Given the description of an element on the screen output the (x, y) to click on. 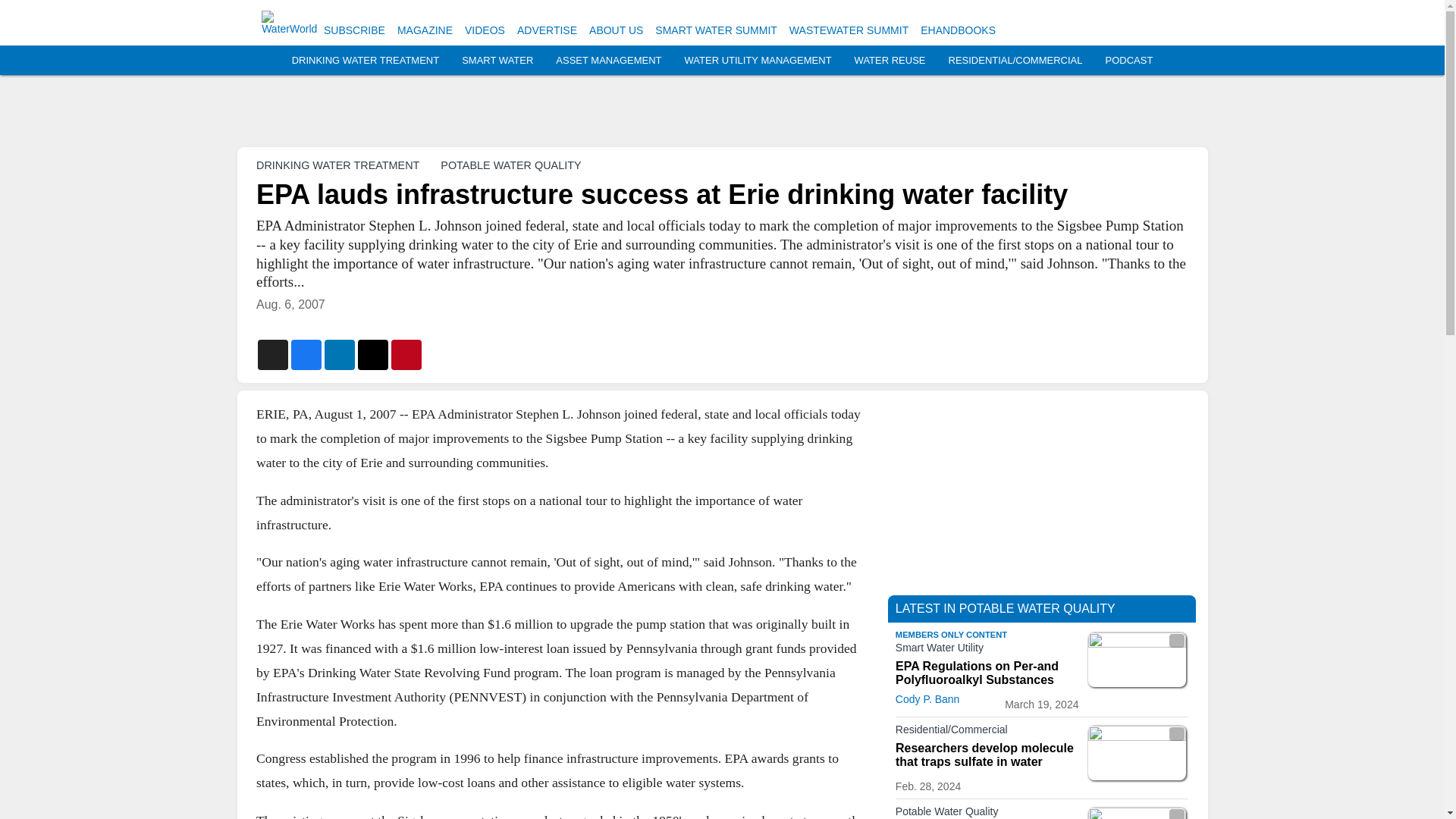
SUBSCRIBE (354, 30)
ADVERTISE (546, 30)
PODCAST (1129, 60)
MAGAZINE (424, 30)
WATER REUSE (890, 60)
SMART WATER SUMMIT (715, 30)
VIDEOS (484, 30)
ASSET MANAGEMENT (608, 60)
SMART WATER (496, 60)
WASTEWATER SUMMIT (848, 30)
EHANDBOOKS (957, 30)
Smart Water Utility (986, 650)
LATEST IN POTABLE WATER QUALITY (1005, 608)
ABOUT US (616, 30)
DRINKING WATER TREATMENT (365, 60)
